Given the description of an element on the screen output the (x, y) to click on. 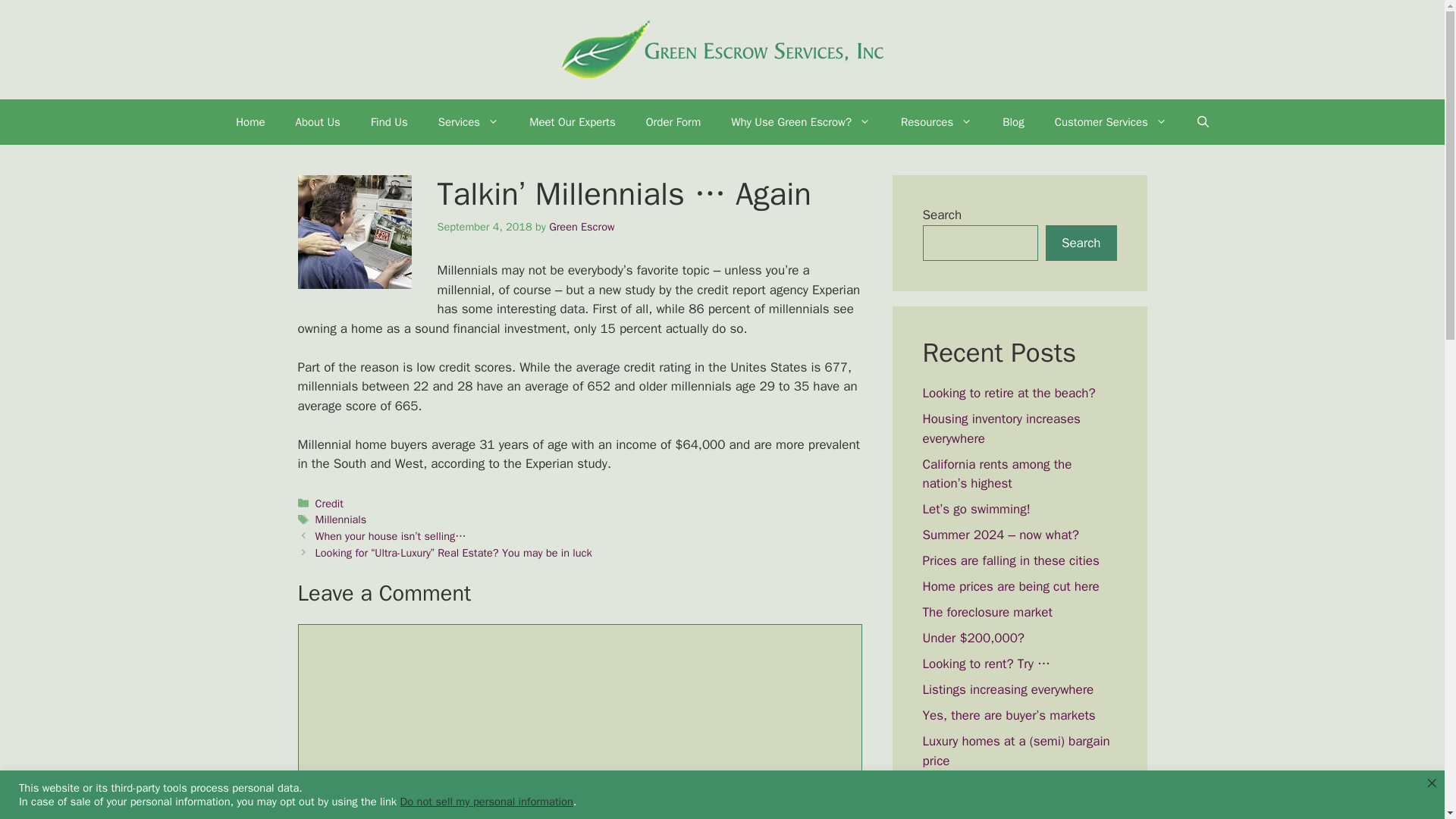
Housing inventory increases everywhere (1000, 428)
Meet Our Experts (571, 121)
About Us (318, 121)
View all posts by Green Escrow (581, 226)
Credit (329, 503)
Why Use Green Escrow? (800, 121)
Find Us (389, 121)
Services (468, 121)
Looking to retire at the beach? (1007, 392)
Order Form (673, 121)
Resources (936, 121)
Home (250, 121)
Green Escrow (581, 226)
Search (1080, 242)
Blog (1013, 121)
